Given the description of an element on the screen output the (x, y) to click on. 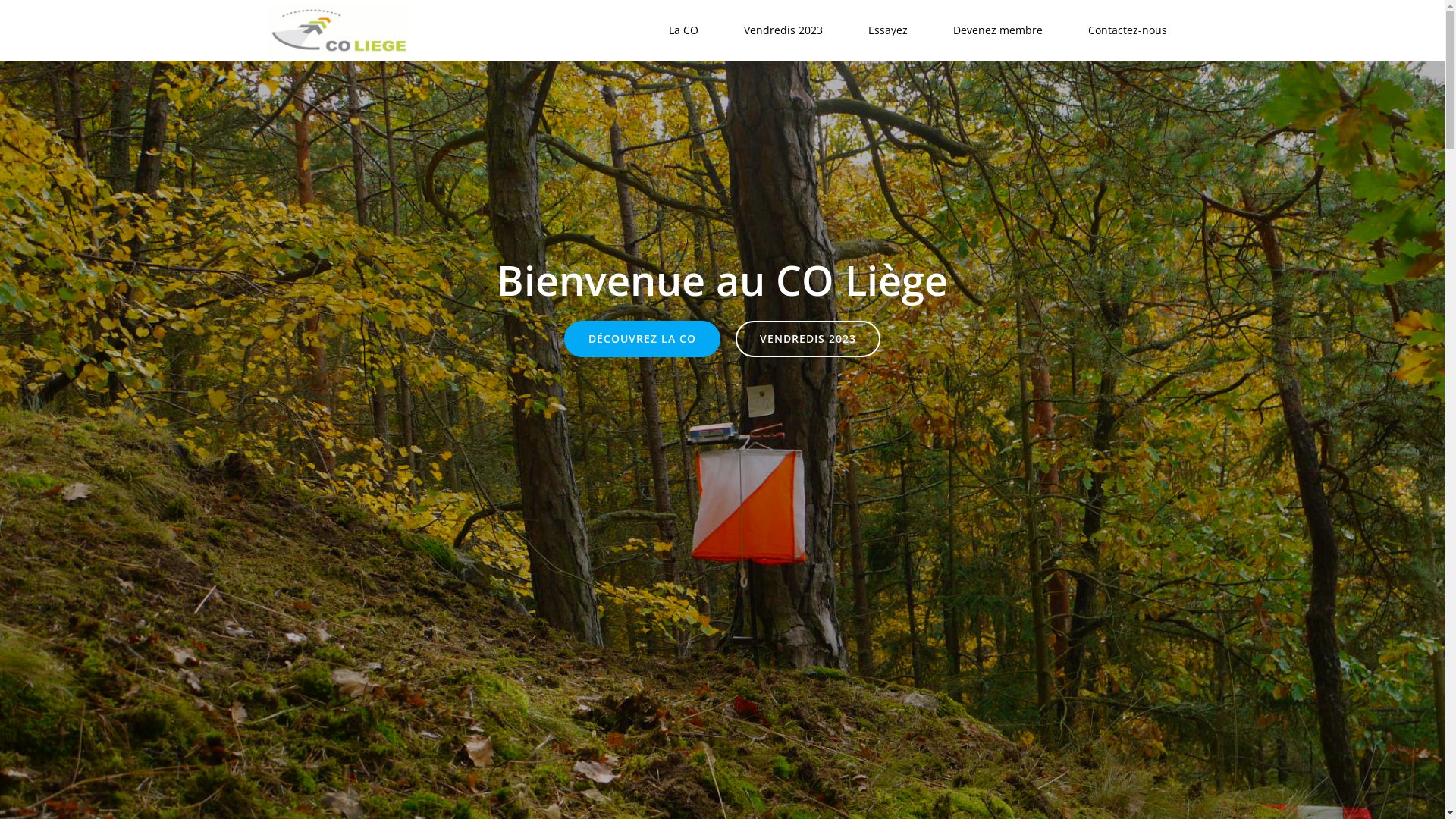
VENDREDIS 2023 Element type: text (807, 338)
Essayez Element type: text (886, 29)
Devenez membre Element type: text (996, 29)
Contactez-nous Element type: text (1126, 29)
La CO Element type: text (683, 29)
Vendredis 2023 Element type: text (782, 29)
